Given the description of an element on the screen output the (x, y) to click on. 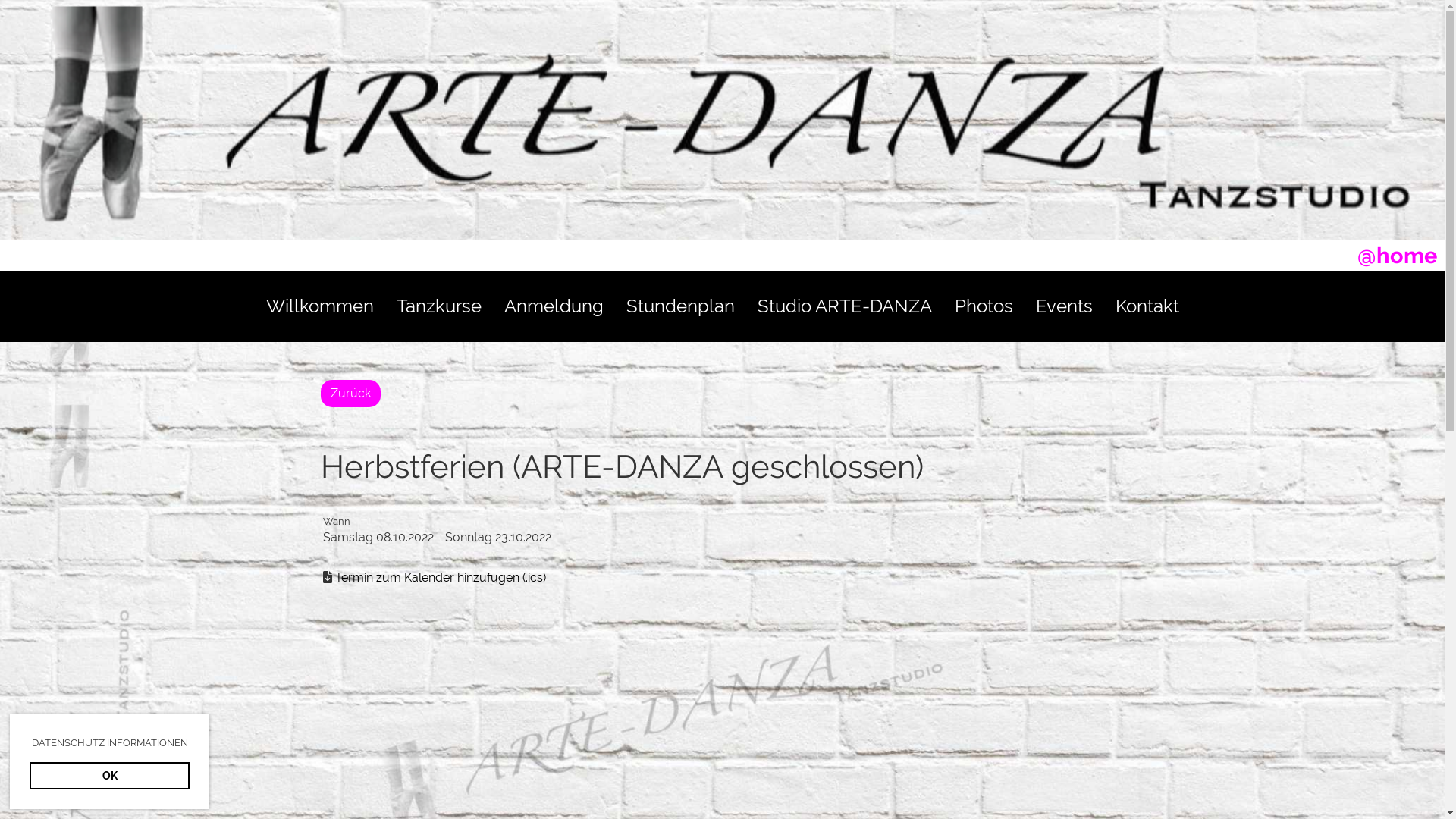
Events Element type: text (1063, 306)
OK Element type: text (109, 775)
Anmeldung Element type: text (553, 306)
Tanzkurse Element type: text (438, 306)
Studio ARTE-DANZA Element type: text (844, 306)
Willkommen Element type: text (319, 306)
DATENSCHUTZ INFORMATIONEN Element type: text (109, 743)
@home Element type: text (1397, 255)
Kontakt Element type: text (1147, 306)
Photos Element type: text (983, 306)
Stundenplan Element type: text (679, 306)
